Given the description of an element on the screen output the (x, y) to click on. 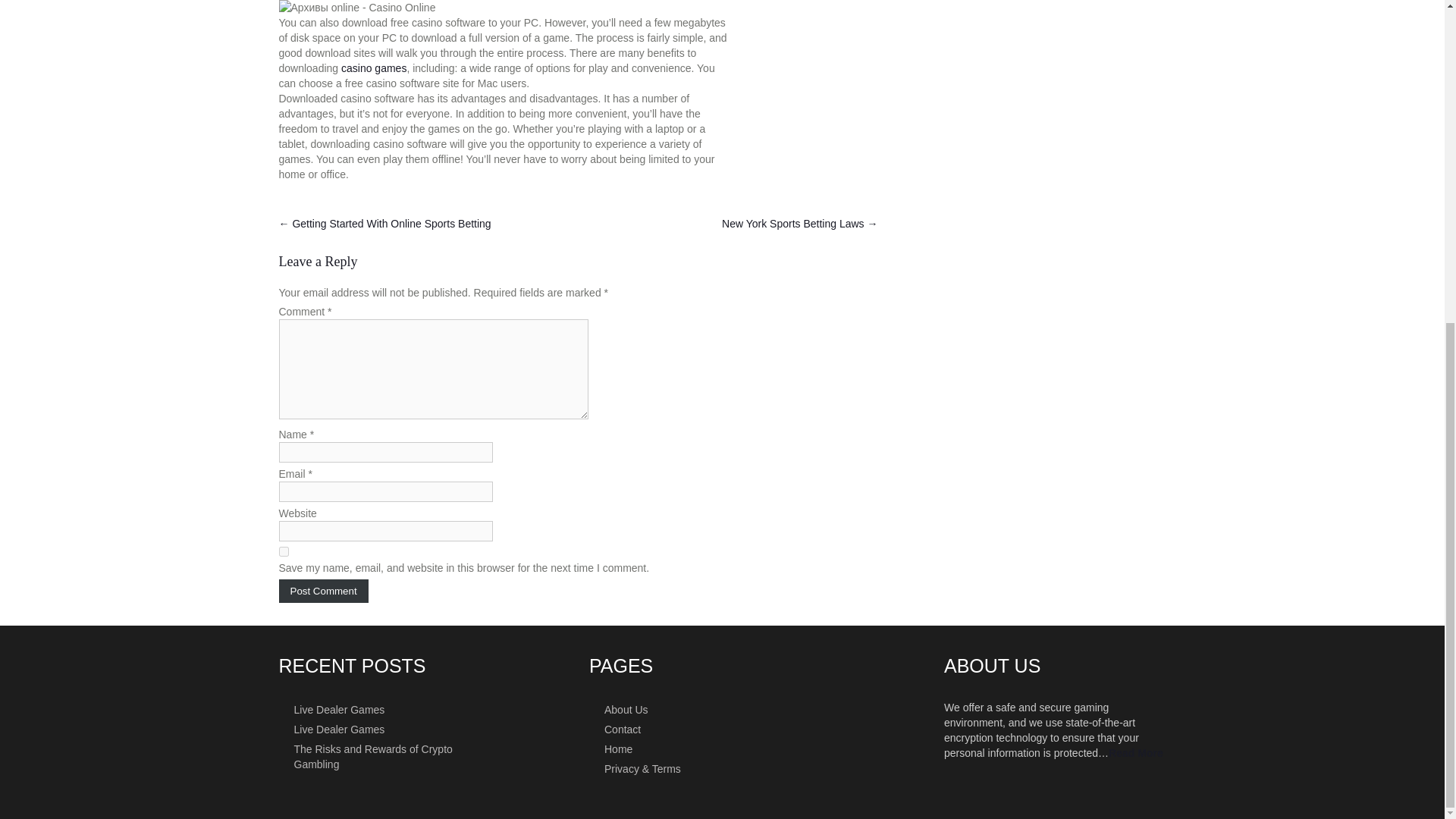
yes (283, 551)
Read More (1135, 752)
Home (722, 748)
Live Dealer Games (389, 728)
Contact (722, 728)
Post Comment (323, 590)
About Us (722, 709)
Post Comment (323, 590)
Live Dealer Games (389, 709)
casino games (373, 68)
The Risks and Rewards of Crypto Gambling (389, 755)
